Given the description of an element on the screen output the (x, y) to click on. 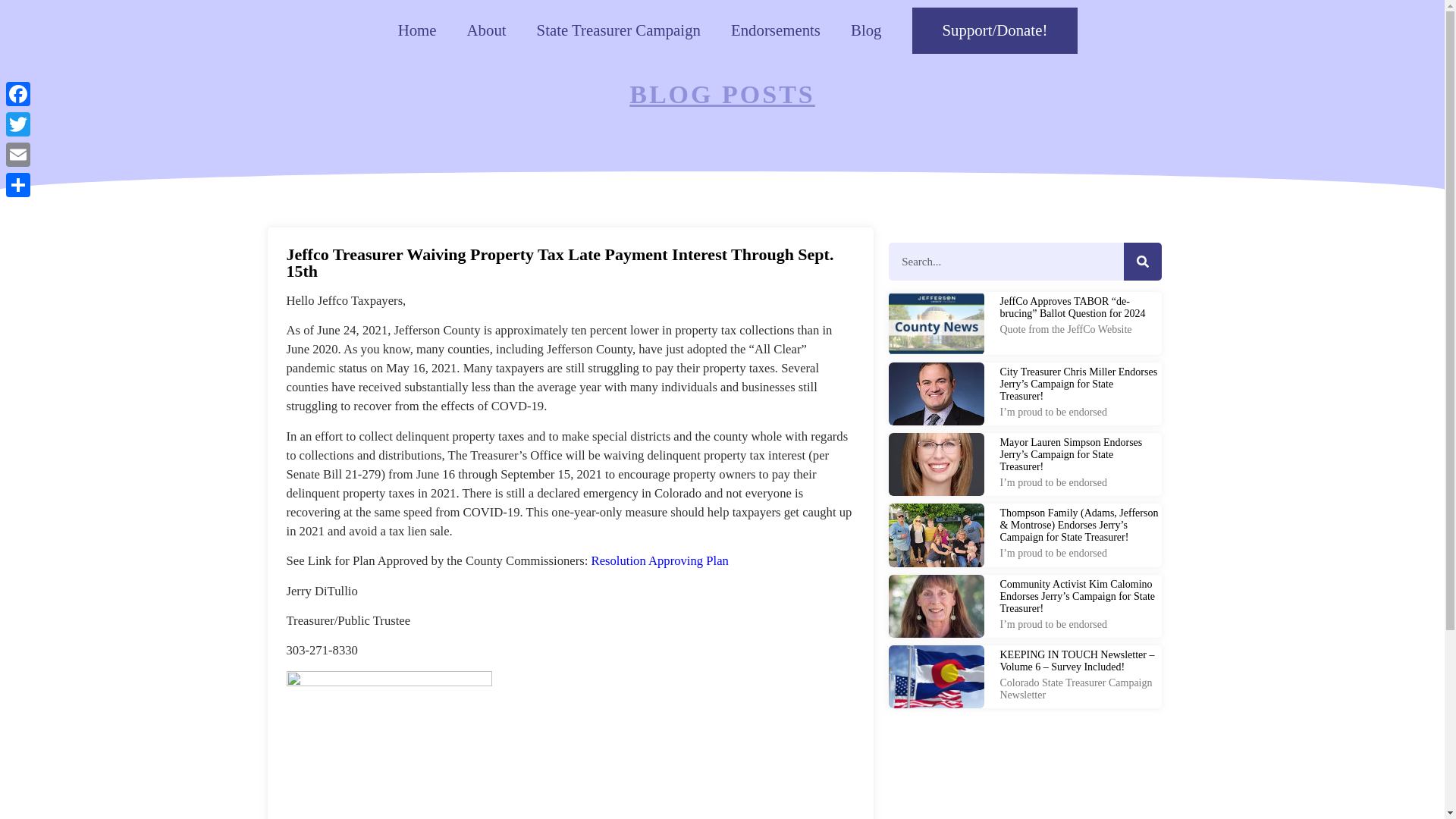
About (486, 29)
Facebook (17, 93)
Endorsements (775, 29)
Blog (865, 29)
Home (416, 29)
Email (17, 154)
State Treasurer Campaign (618, 29)
Twitter (17, 123)
Resolution Approving Plan (660, 560)
